Given the description of an element on the screen output the (x, y) to click on. 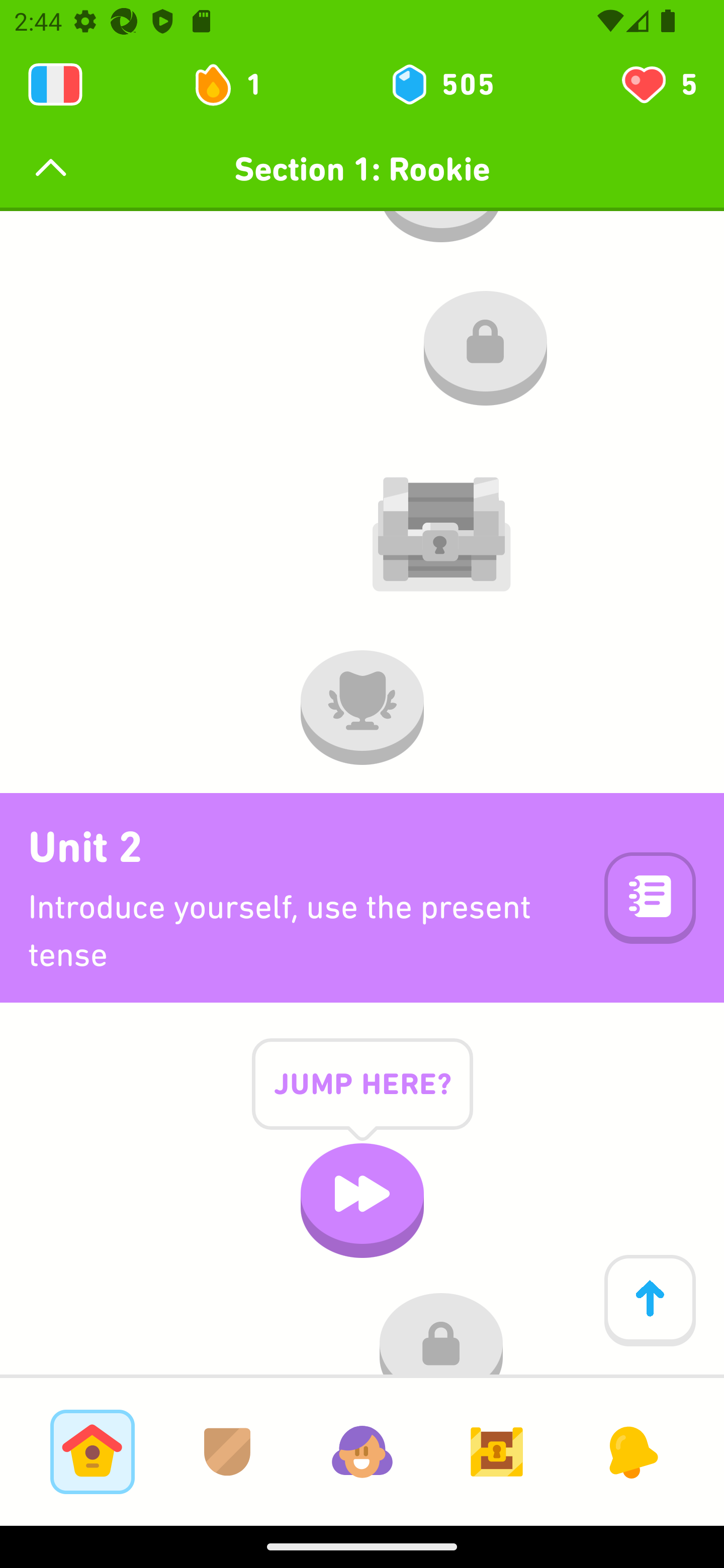
Learning 2131888976 (55, 84)
1 day streak 1 (236, 84)
505 (441, 84)
You have 5 hearts left 5 (657, 84)
Section 1: Rookie (362, 169)
JUMP HERE? (361, 1099)
Learn Tab (91, 1451)
Leagues Tab (227, 1451)
Profile Tab (361, 1451)
Goals Tab (496, 1451)
News Tab (631, 1451)
